Given the description of an element on the screen output the (x, y) to click on. 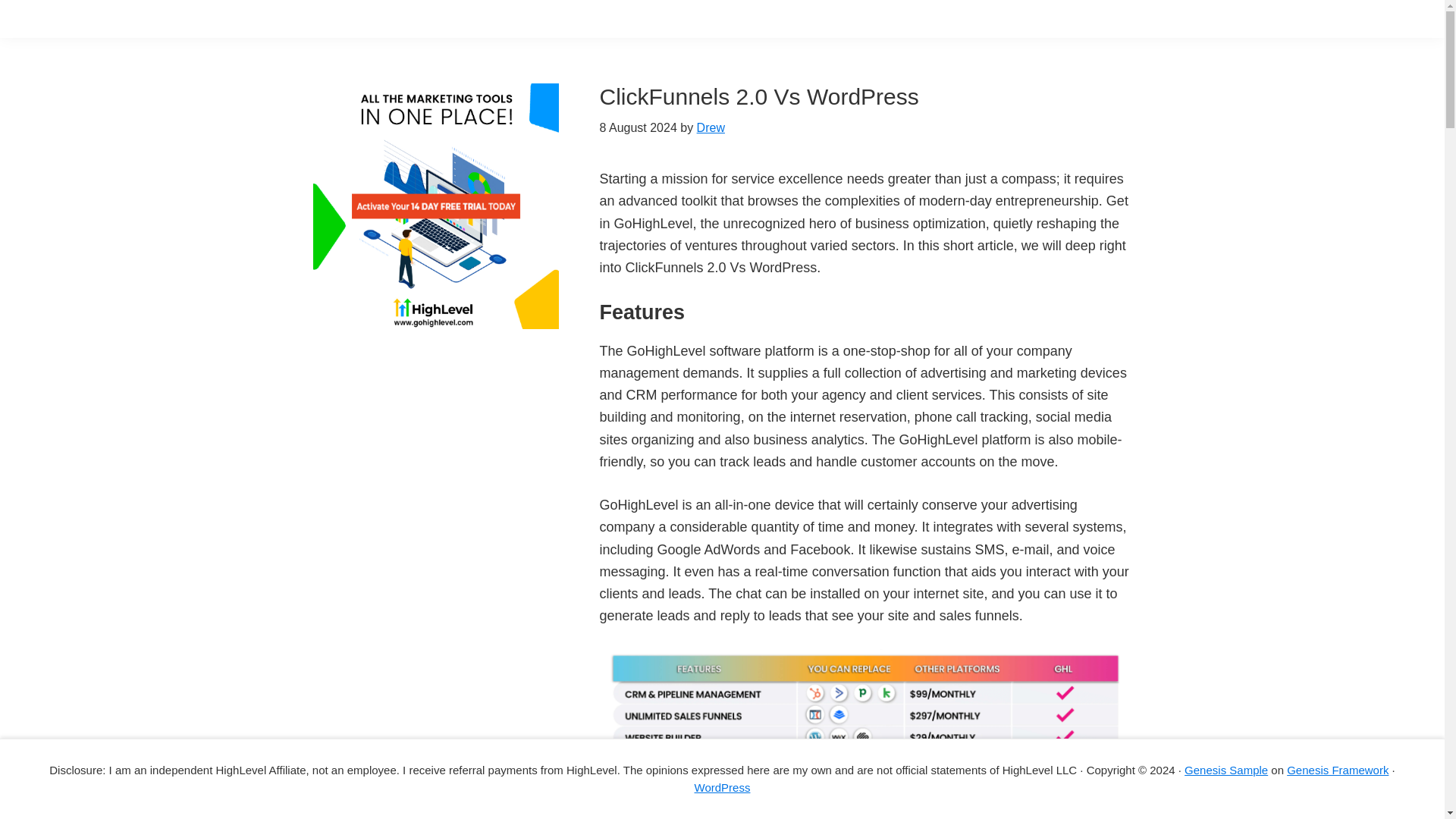
Drew (711, 127)
Genesis Framework (1338, 769)
Genesis Sample (1226, 769)
WordPress (722, 787)
